Given the description of an element on the screen output the (x, y) to click on. 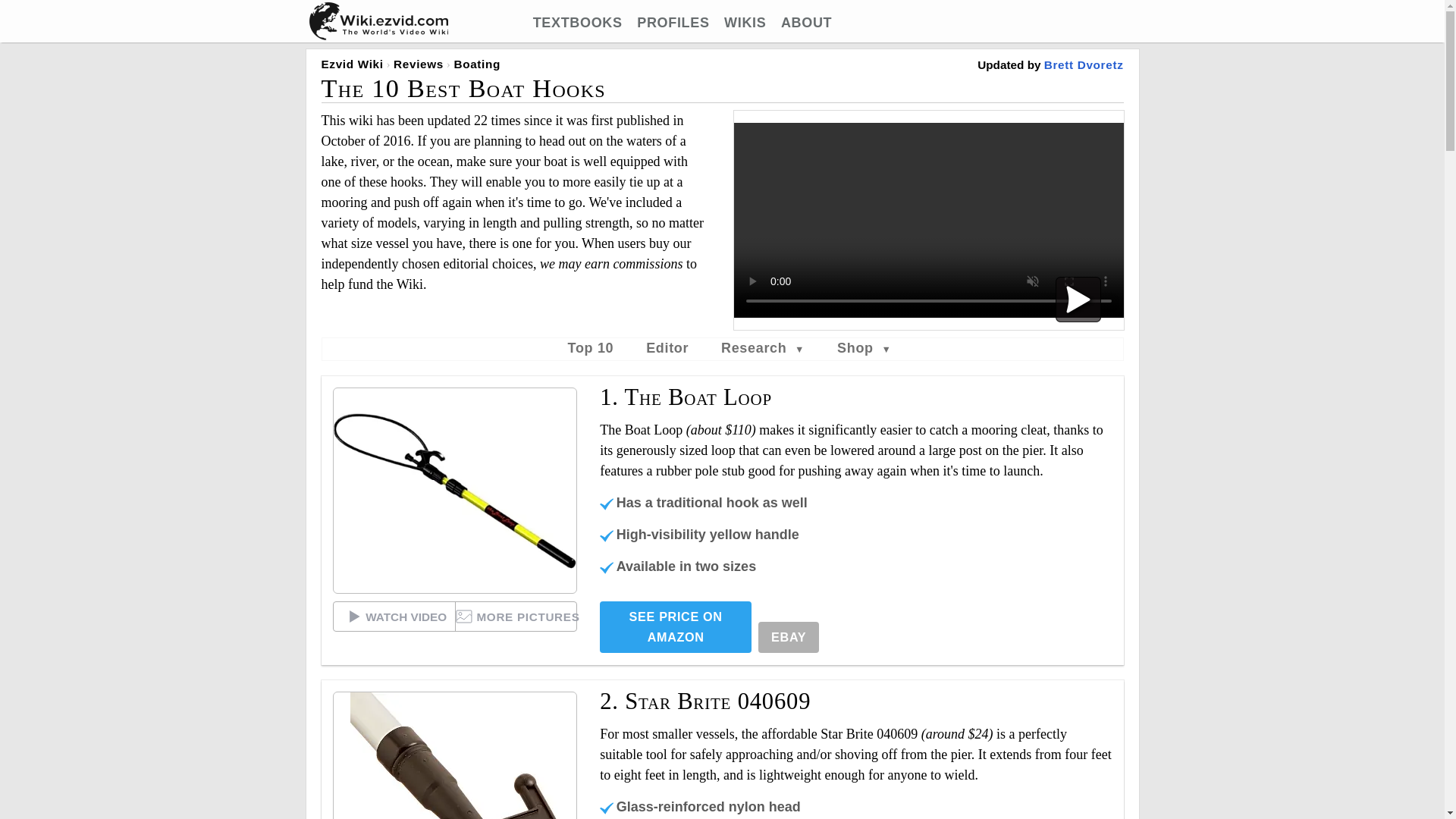
MORE PICTURES (515, 615)
Brett Dvoretz (1083, 64)
EBAY (788, 636)
Editor (667, 347)
Reviews (418, 63)
ABOUT (805, 22)
SEE PRICE ON AMAZON (675, 626)
TEXTBOOKS (577, 22)
PROFILES (673, 22)
Boating (476, 63)
Top 10 (590, 347)
WIKIS (744, 22)
Ezvid Wiki (352, 63)
